Given the description of an element on the screen output the (x, y) to click on. 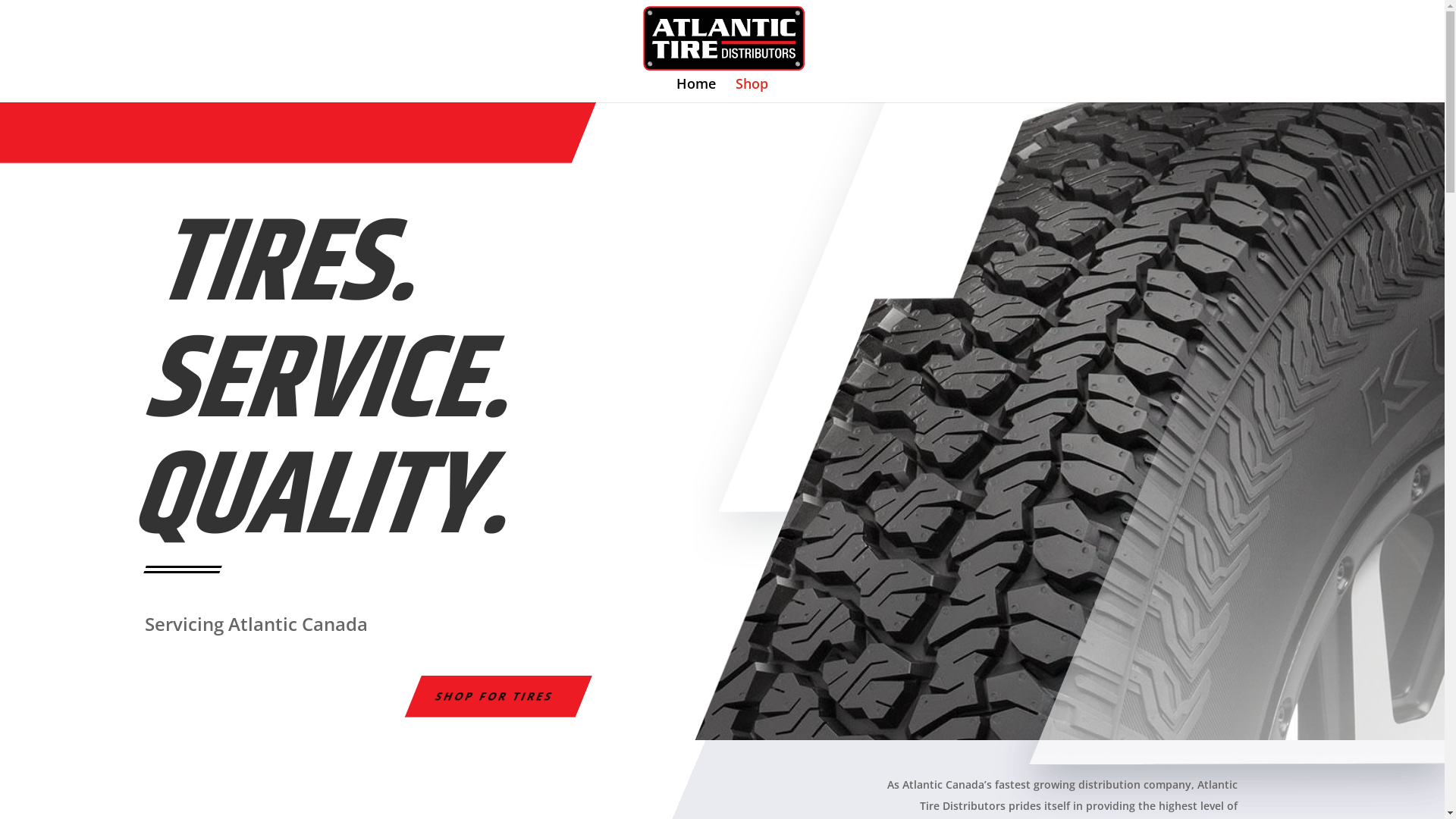
kumho_roadventureat51 Element type: hover (1068, 421)
SHOP FOR TIRES Element type: text (489, 695)
Shop Element type: text (751, 90)
Home Element type: text (695, 90)
